Given the description of an element on the screen output the (x, y) to click on. 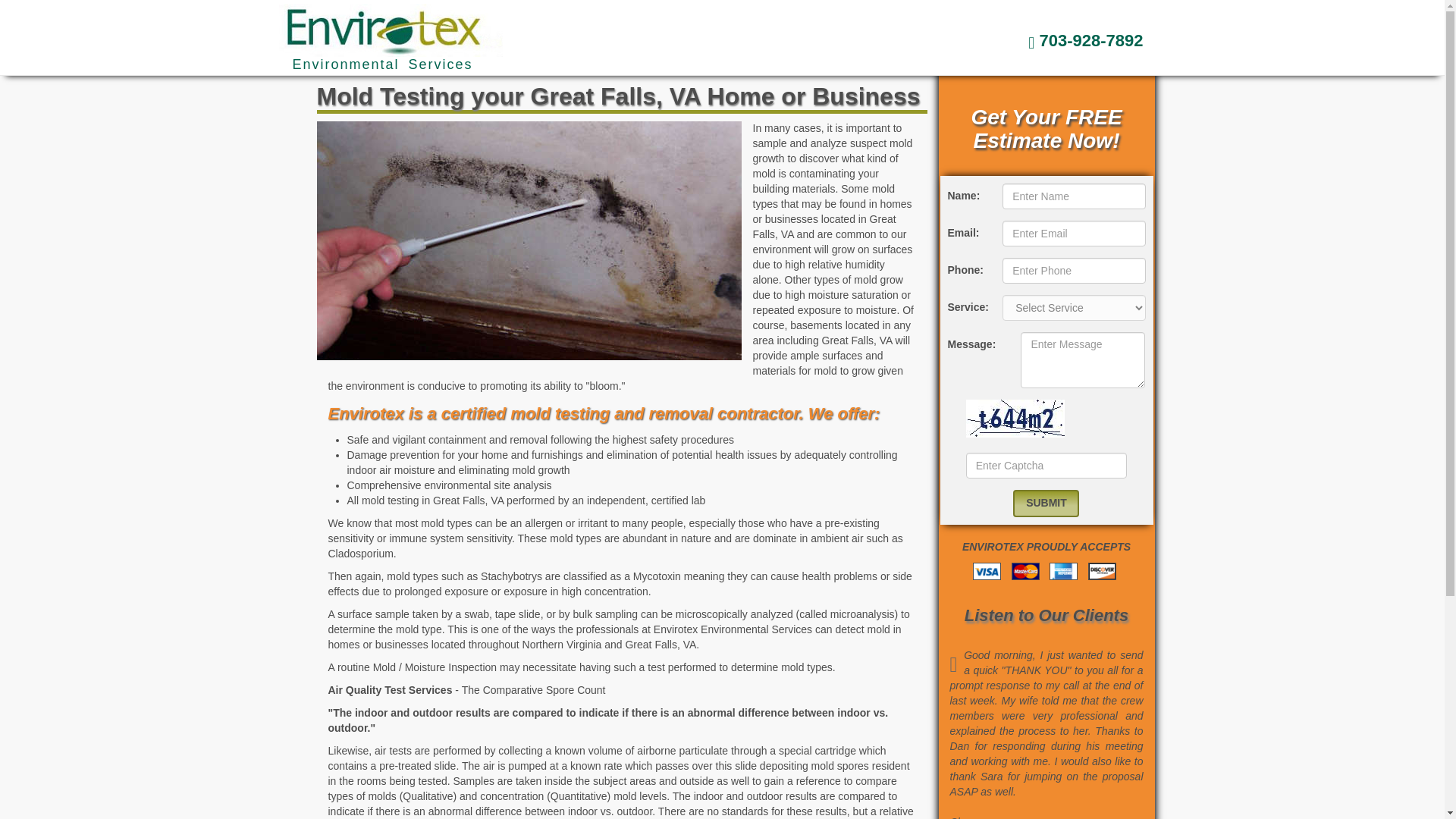
703-928-7892 (1084, 40)
Environmental Services (389, 7)
SUBMIT (1045, 502)
